Given the description of an element on the screen output the (x, y) to click on. 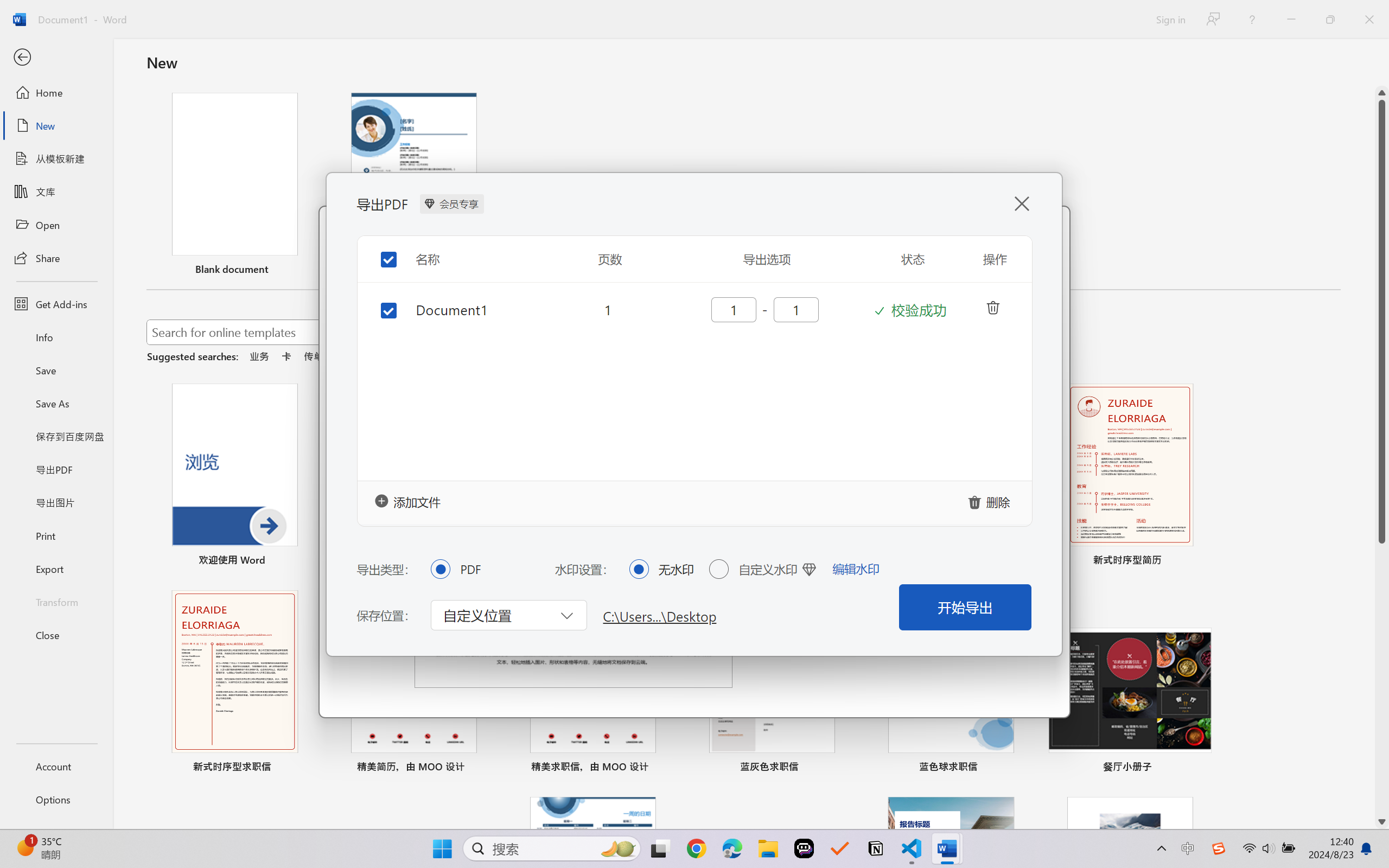
C:\Users...\Desktop (659, 615)
Pin to list (1200, 767)
Toggle selection for all items (380, 250)
Microsoft Edge (731, 848)
